Given the description of an element on the screen output the (x, y) to click on. 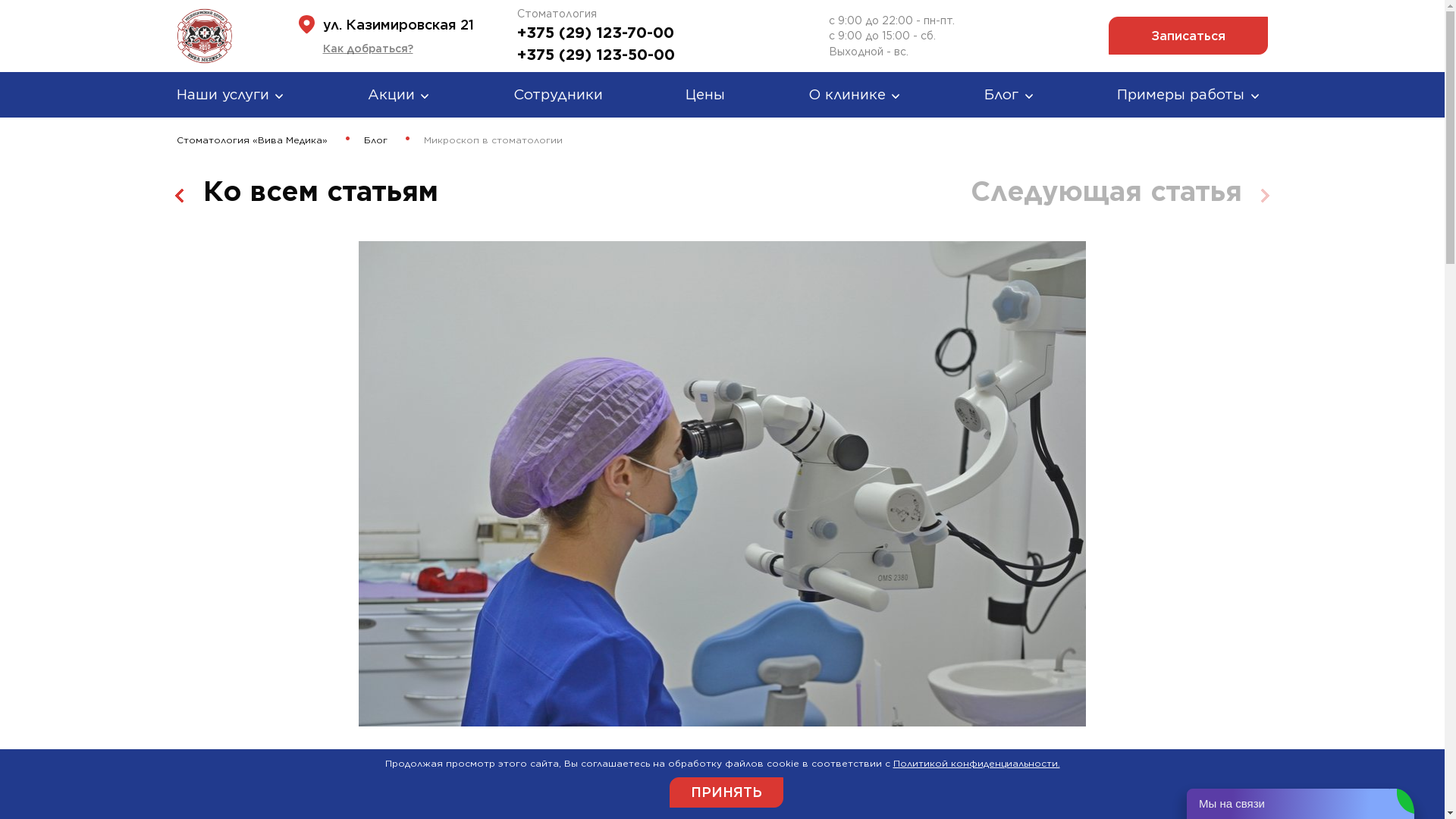
+375 (29) 123-70-00 Element type: text (595, 32)
+375 (29) 123-50-00 Element type: text (595, 54)
